Given the description of an element on the screen output the (x, y) to click on. 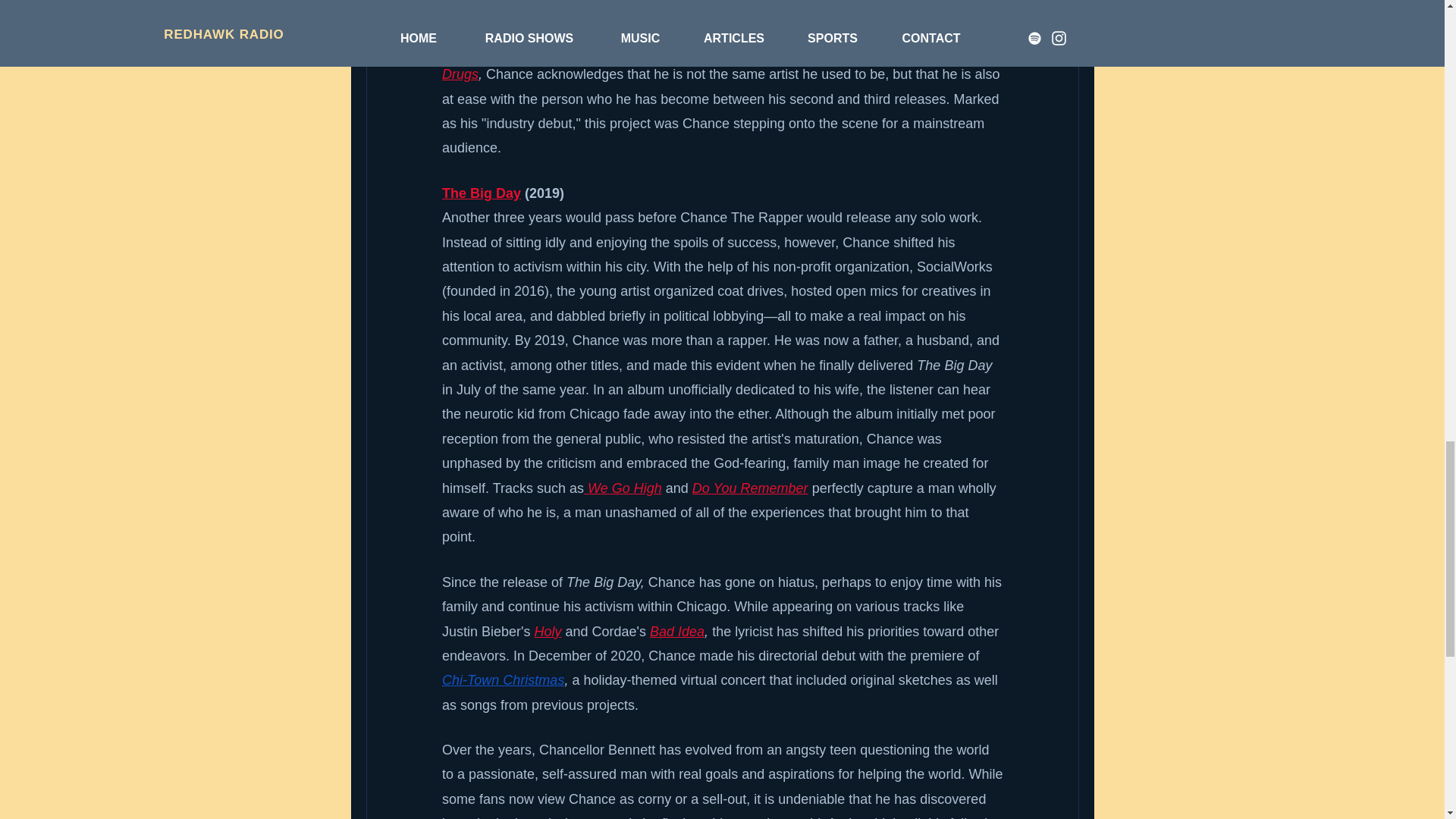
We Go High (625, 488)
Do You Remember (749, 488)
Same Drugs (709, 61)
Bad Idea (676, 631)
The Big Day (480, 192)
Chi-Town Christmas (502, 679)
Holy (547, 631)
